Given the description of an element on the screen output the (x, y) to click on. 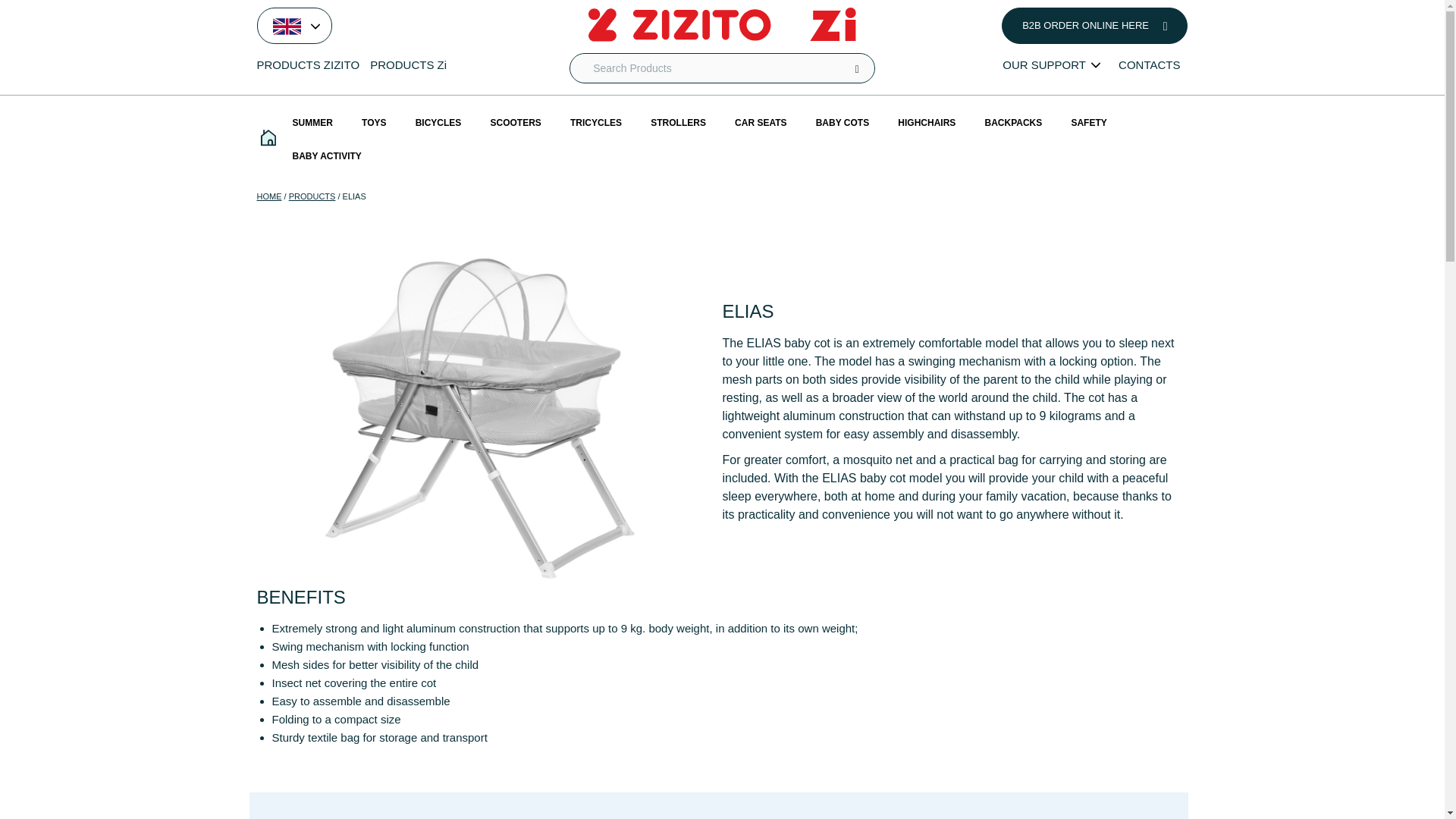
CONTACTS (1149, 64)
BABY COTS (842, 122)
PRODUCTS Zi (411, 64)
TOYS (373, 122)
OUR SUPPORT (1051, 64)
STROLLERS (678, 122)
PRODUCTS ZIZITO (311, 64)
OUR SUPPORT (1051, 64)
CAR SEATS (760, 122)
PRODUCTS Zi (411, 64)
